Given the description of an element on the screen output the (x, y) to click on. 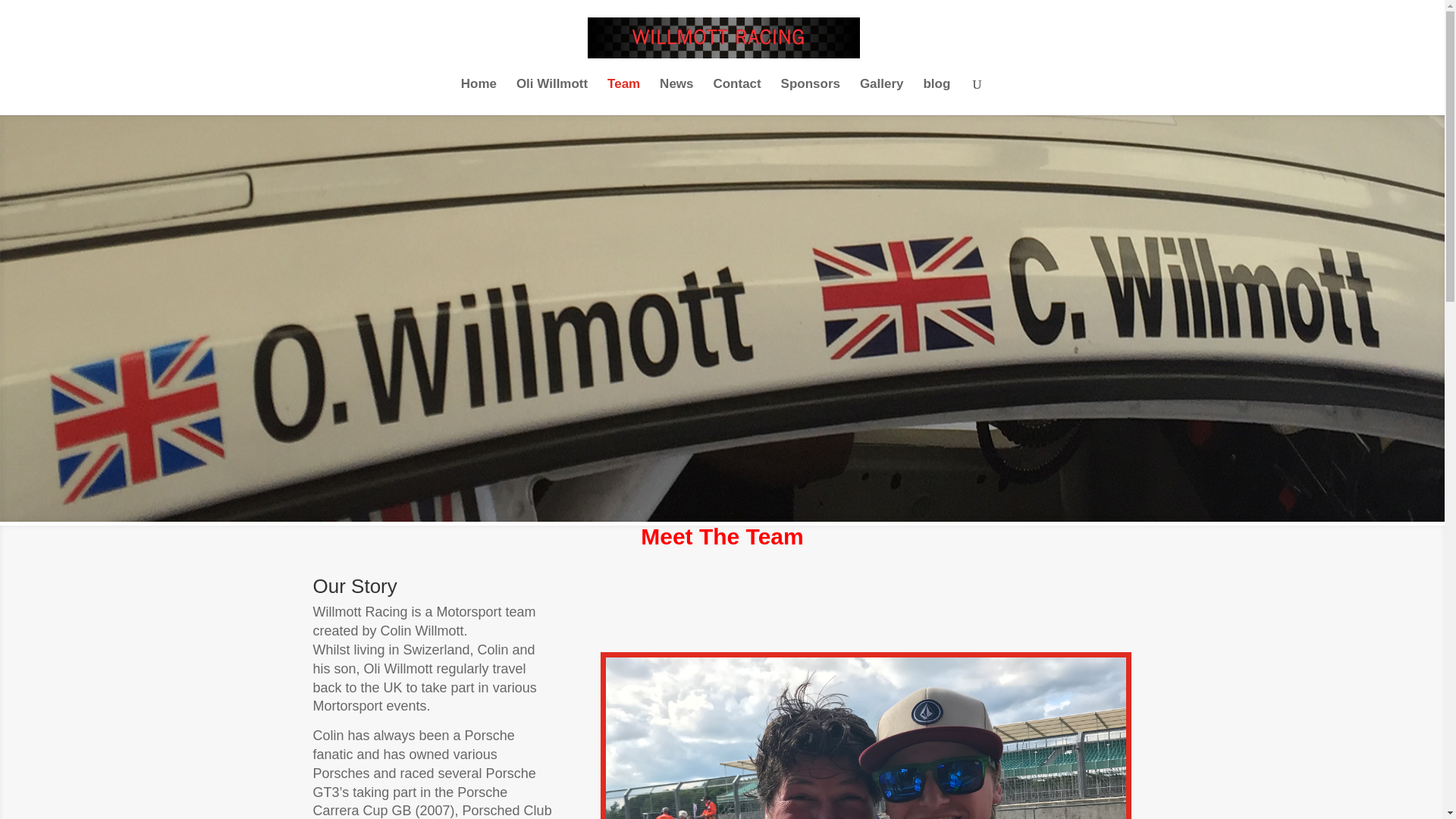
Oli Willmott (552, 96)
Team (623, 96)
News (676, 96)
Sponsors (810, 96)
Home (478, 96)
Contact (736, 96)
Gallery (882, 96)
blog (936, 96)
